Given the description of an element on the screen output the (x, y) to click on. 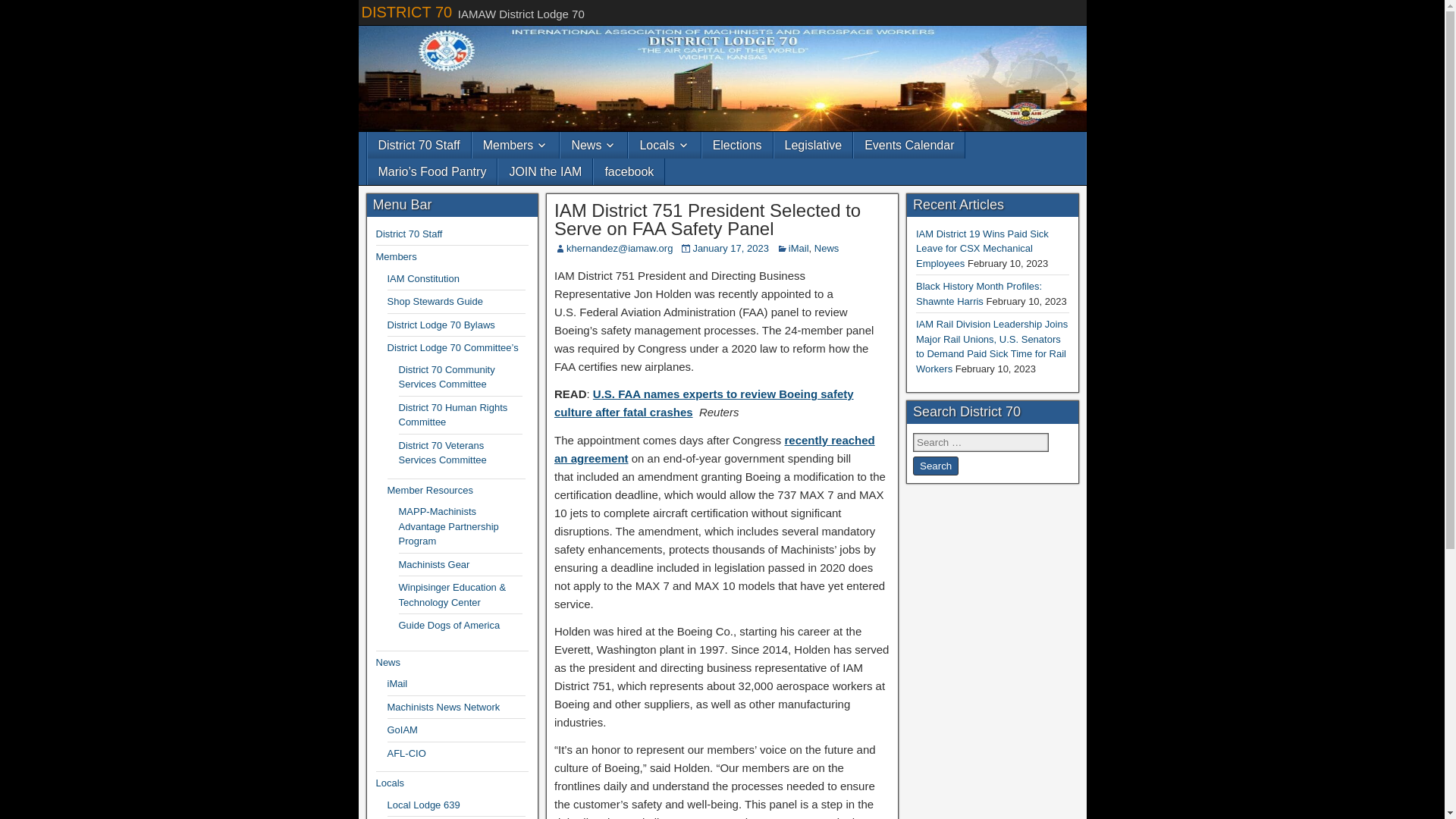
JOIN the IAM (544, 171)
January 17, 2023 (730, 247)
DISTRICT 70 (406, 12)
Search (935, 465)
Locals (664, 144)
facebook (628, 171)
District 70 Staff (418, 144)
News (593, 144)
Search (935, 465)
Elections (737, 144)
Events Calendar (908, 144)
News (826, 247)
Members (515, 144)
